Given the description of an element on the screen output the (x, y) to click on. 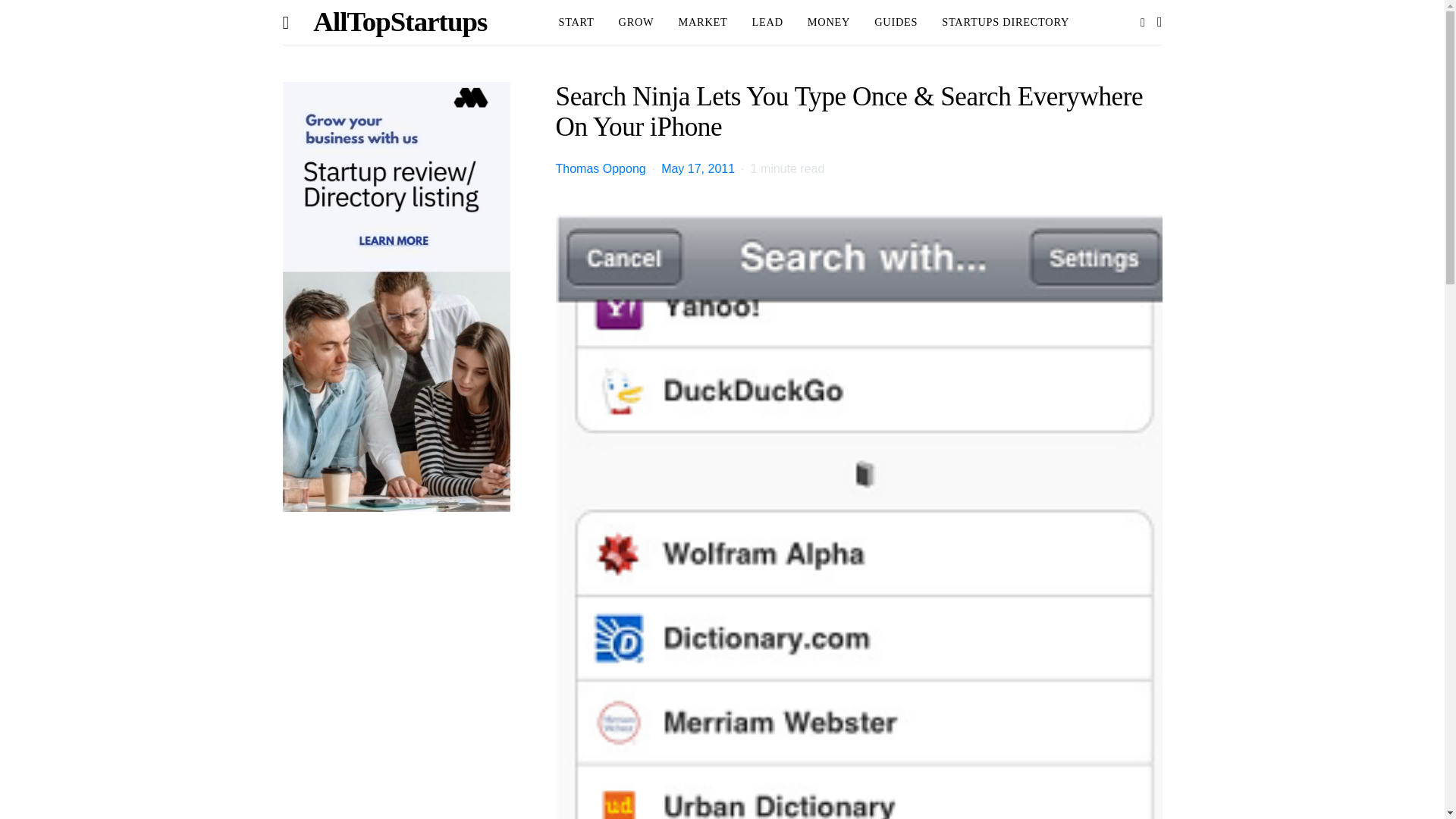
STARTUPS DIRECTORY (1005, 22)
GUIDES (896, 22)
MONEY (829, 22)
AllTopStartups (399, 22)
MARKET (702, 22)
Thomas Oppong (599, 168)
May 17, 2011 (698, 168)
View all posts by Thomas Oppong (599, 168)
